Given the description of an element on the screen output the (x, y) to click on. 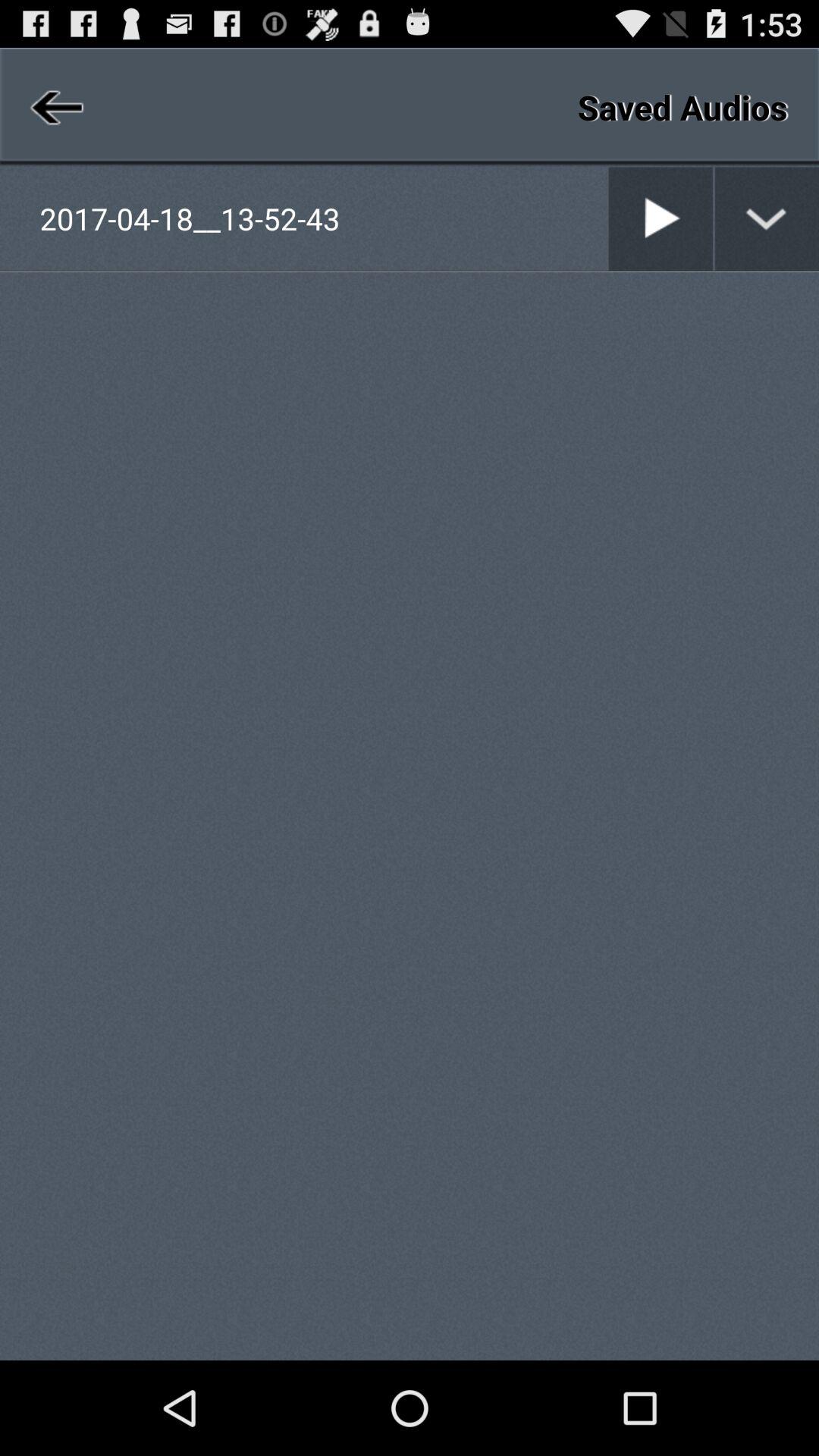
launch the app to the left of the saved audios (54, 107)
